Given the description of an element on the screen output the (x, y) to click on. 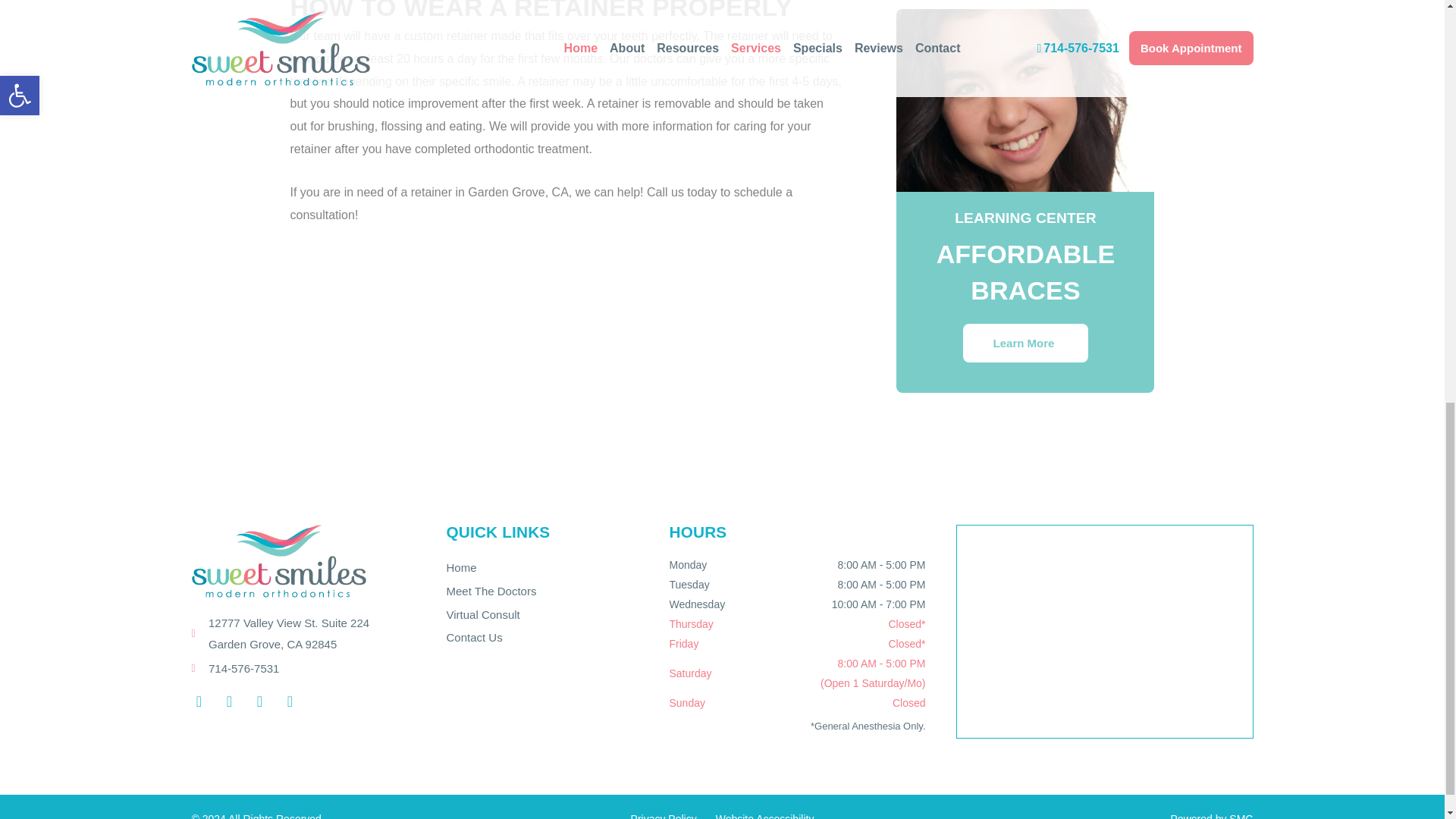
Sweet Smiles Garden Grove, CA (1104, 631)
